Given the description of an element on the screen output the (x, y) to click on. 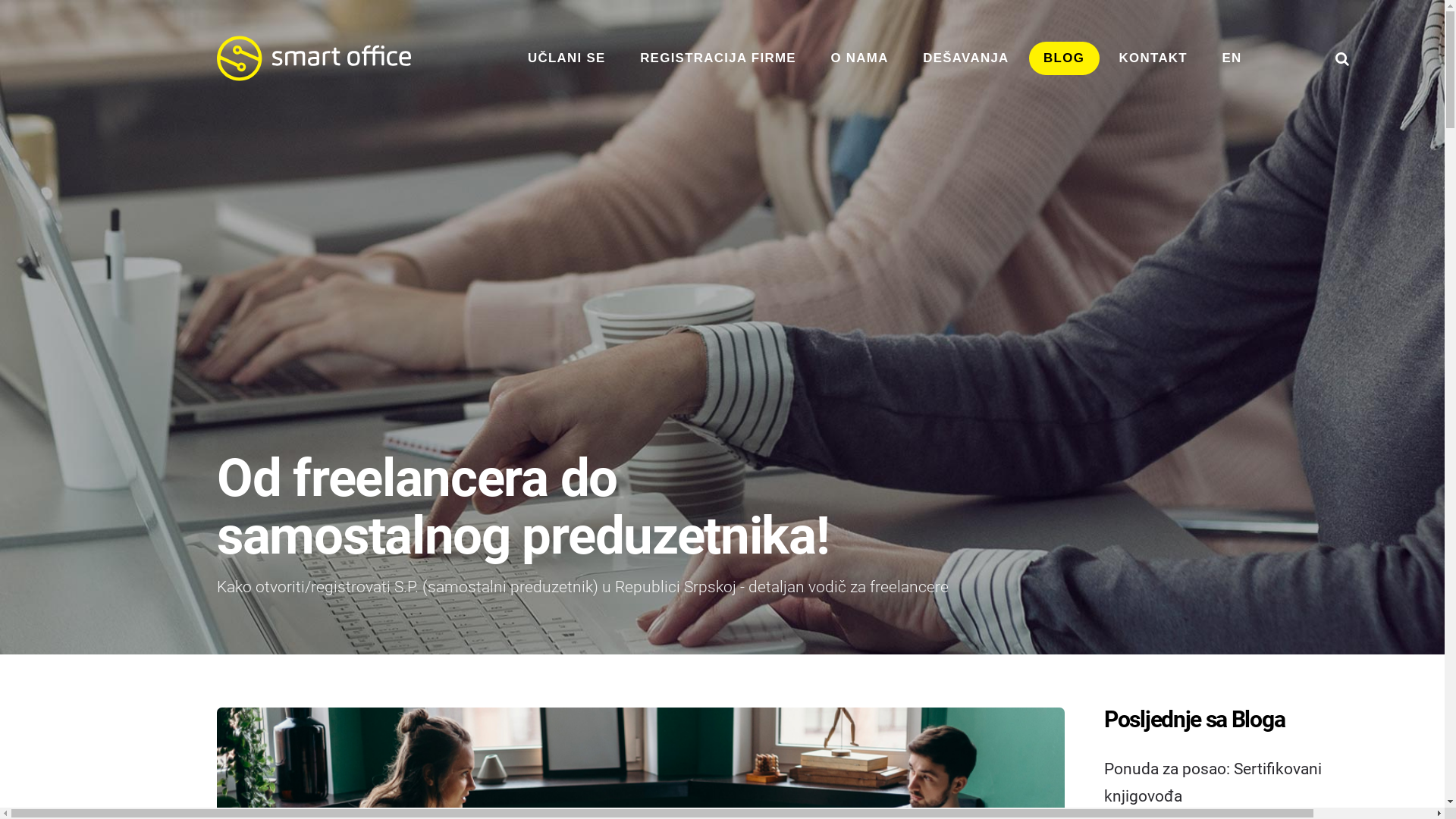
O NAMA Element type: text (661, 44)
KONTAKT Element type: text (887, 44)
REGISTRACIJA FIRME Element type: text (551, 44)
S.P. ili D.O.O.? - Razlike i prednosti Element type: text (940, 671)
BLOG Element type: text (818, 44)
EN Element type: text (947, 44)
